Given the description of an element on the screen output the (x, y) to click on. 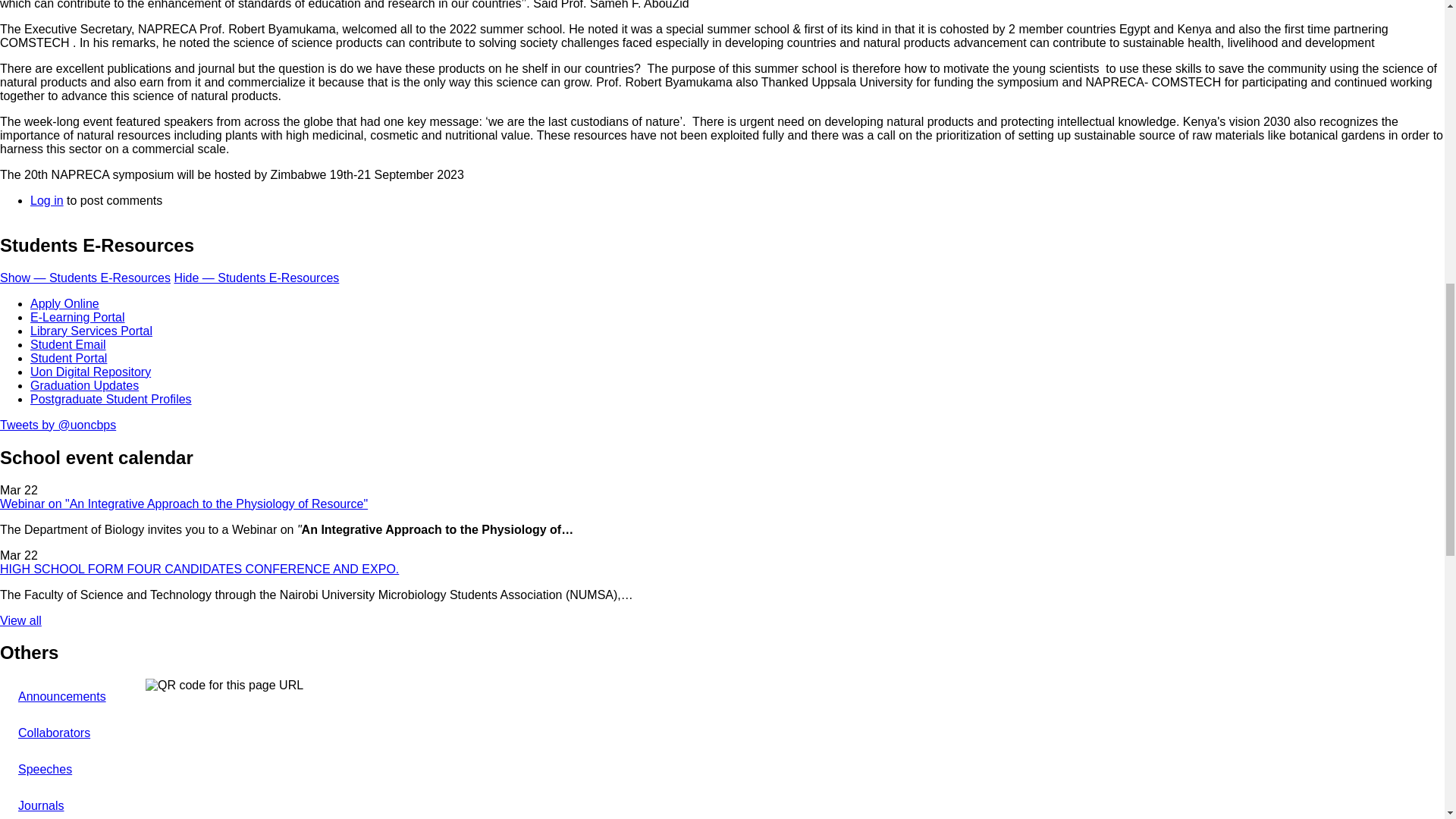
Speeches (72, 769)
Collaborators (72, 732)
Announcements (72, 696)
Apply Online (64, 303)
